Given the description of an element on the screen output the (x, y) to click on. 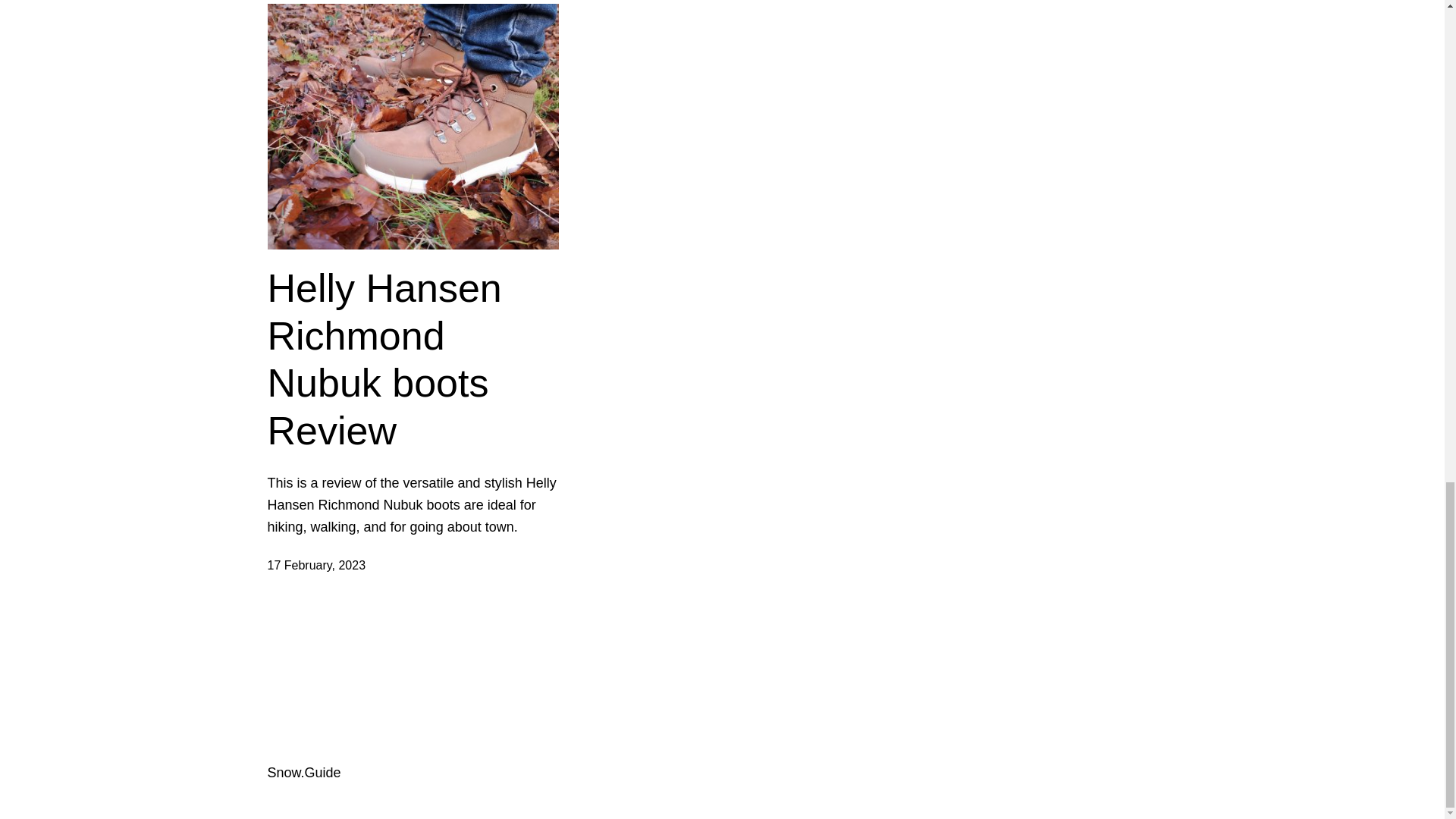
Snow.Guide (303, 772)
Helly Hansen Richmond Nubuk boots Review (412, 359)
17 February, 2023 (315, 564)
